Given the description of an element on the screen output the (x, y) to click on. 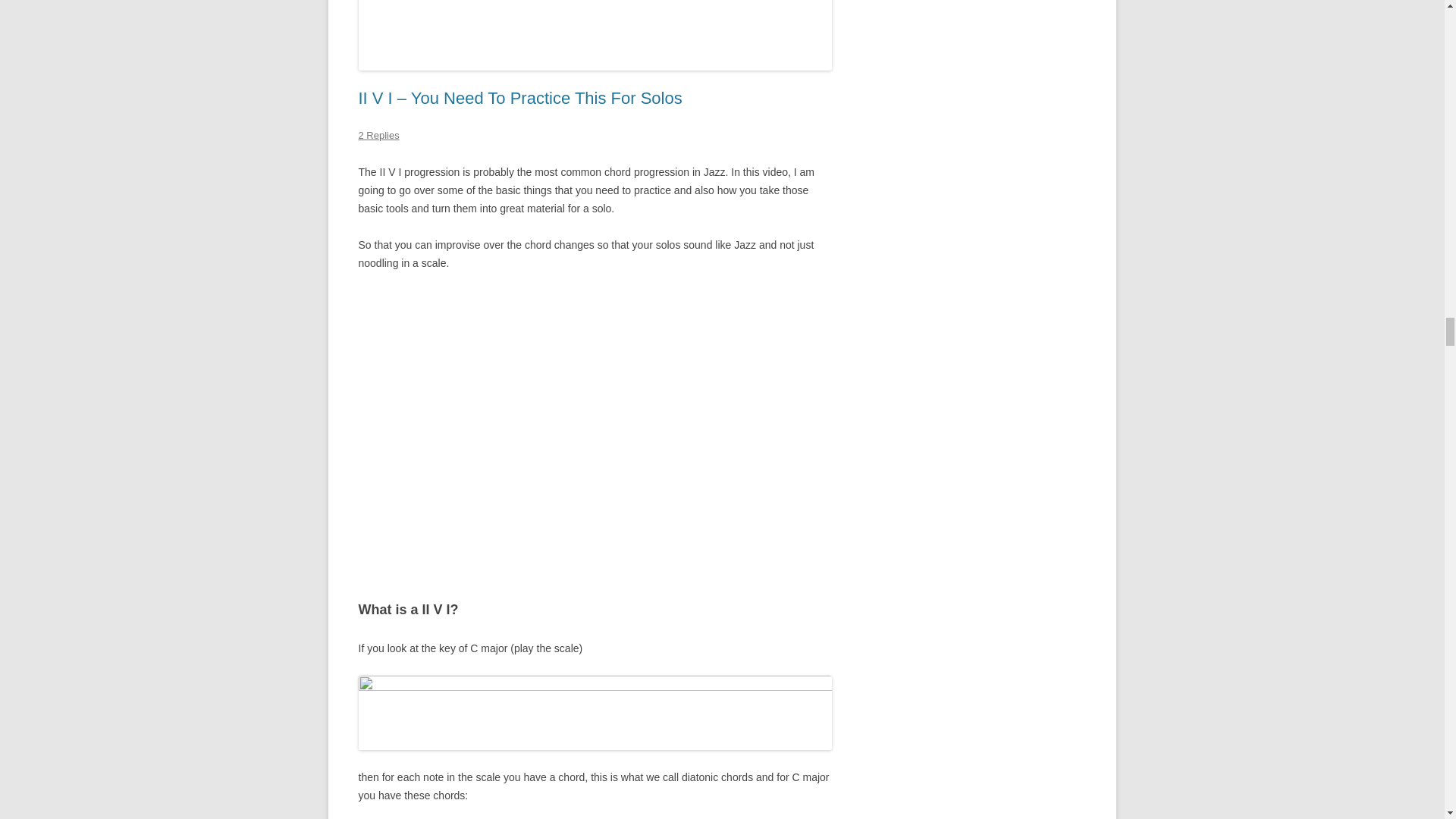
II V I  - You Need To Practice This For Solos (594, 423)
